Given the description of an element on the screen output the (x, y) to click on. 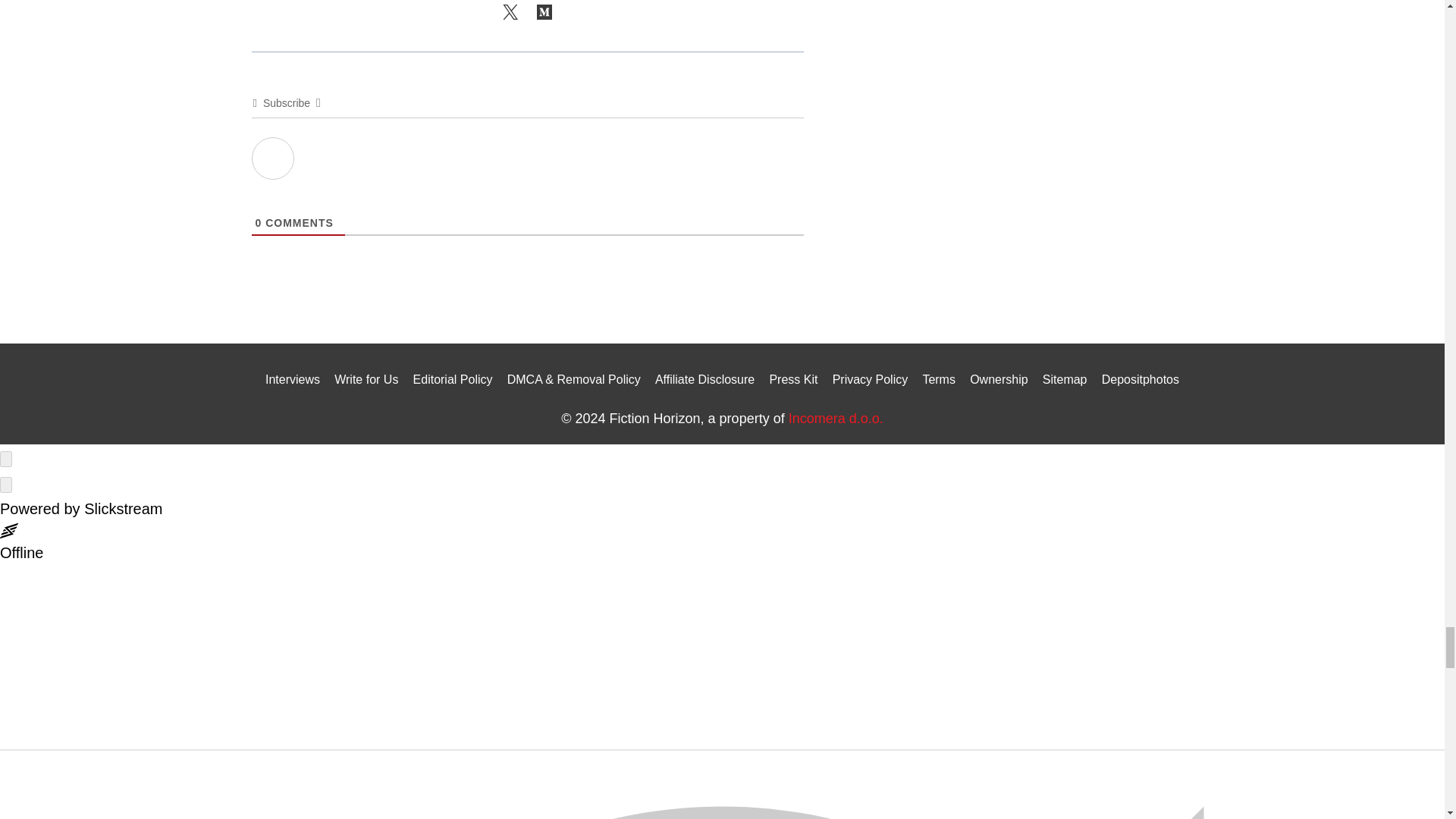
Incomera d.o.o. (836, 418)
Follow Arthur S. Poe on Medium (544, 13)
Follow Arthur S. Poe on X formerly Twitter (510, 13)
